Given the description of an element on the screen output the (x, y) to click on. 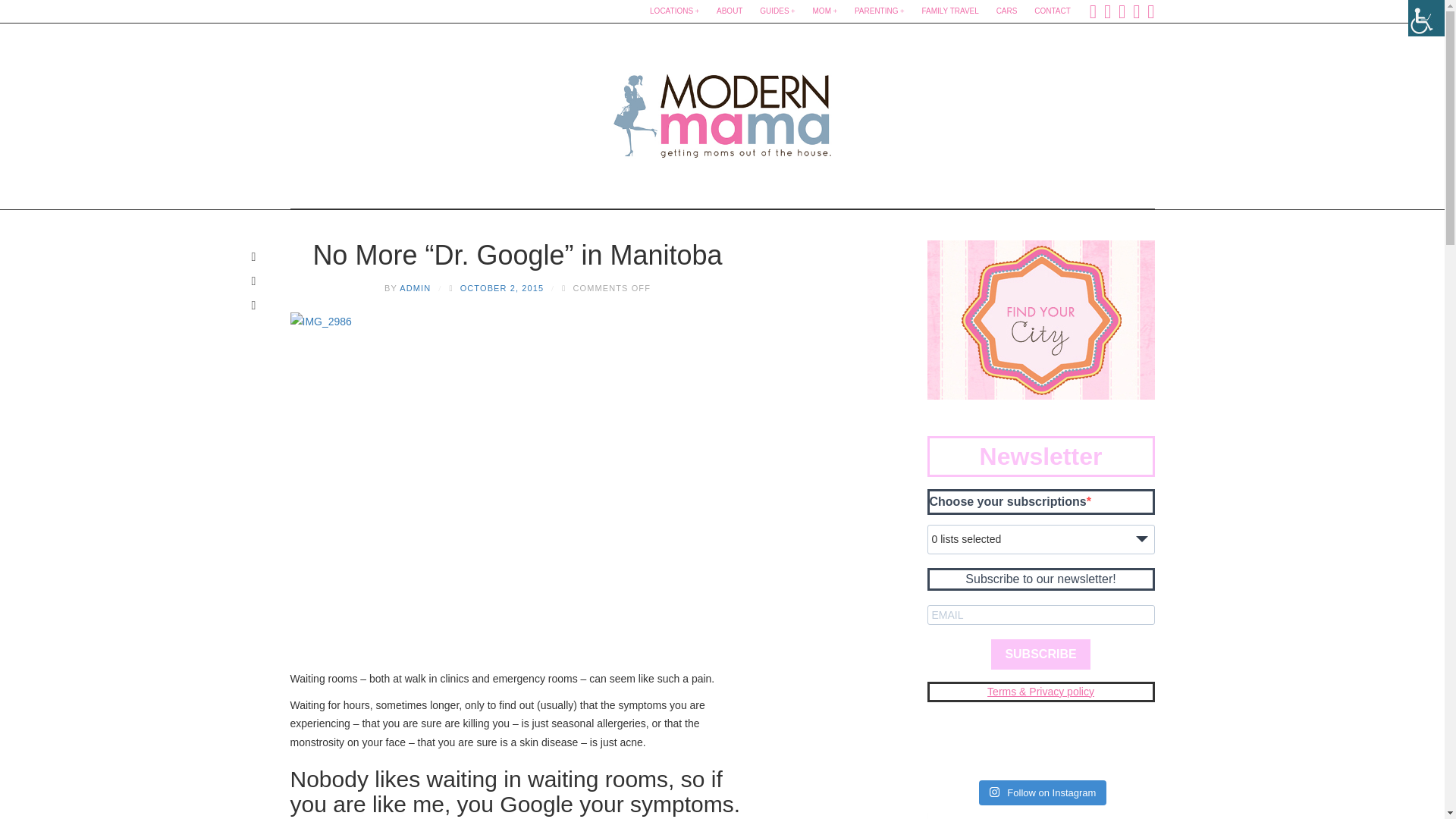
ADMIN (414, 287)
CARS (1006, 11)
View all posts by admin (414, 287)
ABOUT (729, 11)
FAMILY TRAVEL (949, 11)
MOM (825, 11)
PARENTING (879, 11)
LOCATIONS (674, 11)
CONTACT (1052, 11)
8:33 am (501, 287)
